Given the description of an element on the screen output the (x, y) to click on. 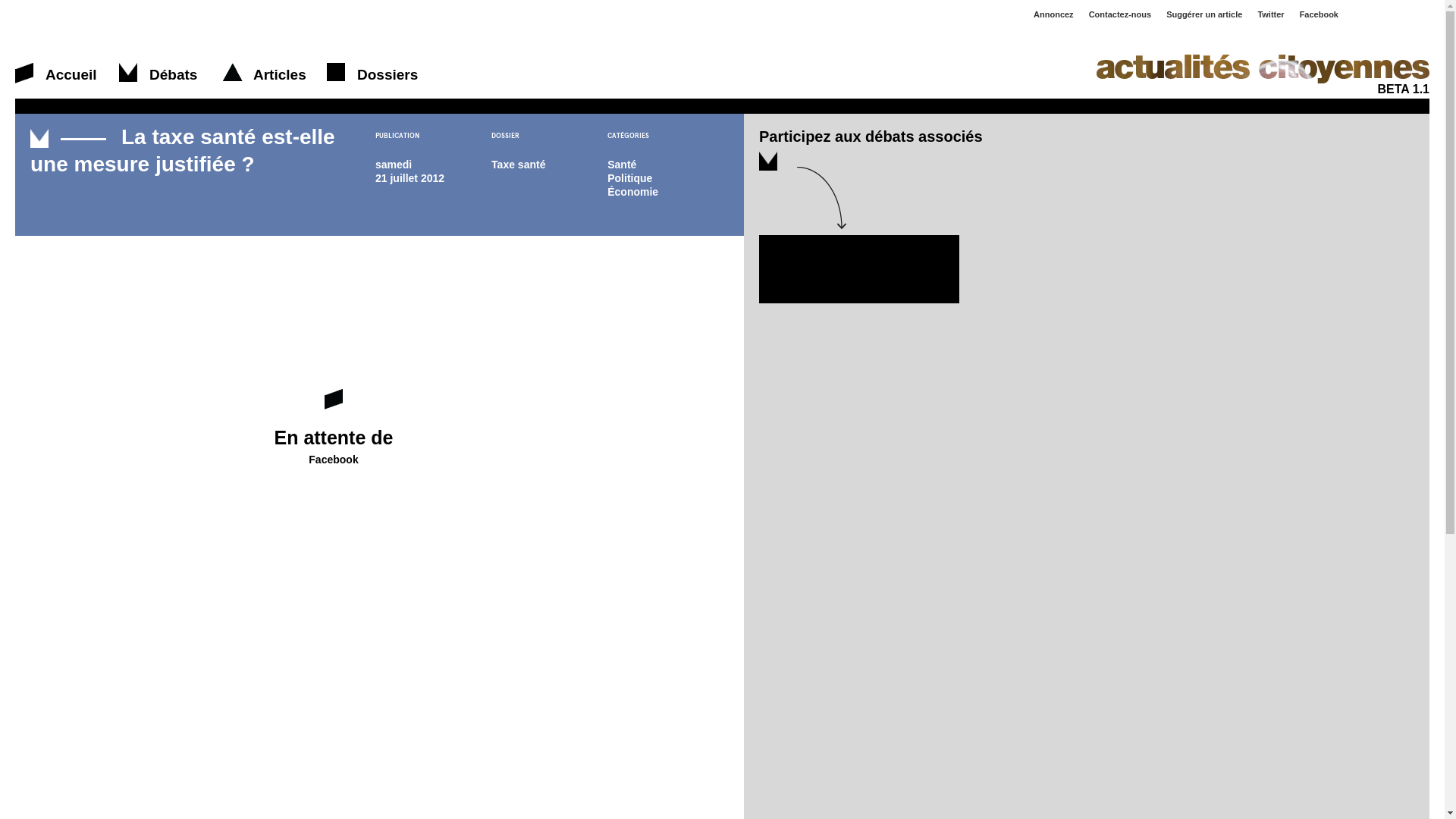
Dossiers Element type: text (336, 72)
Advertisement Element type: hover (858, 268)
Facebook Element type: text (1318, 13)
Contactez-nous Element type: text (1119, 13)
Accueil Element type: text (25, 72)
Tweet Element type: text (967, 219)
Articles Element type: text (232, 72)
Twitter Element type: text (1270, 13)
Annoncez Element type: text (1053, 13)
Advertisement Element type: hover (306, 237)
